Given the description of an element on the screen output the (x, y) to click on. 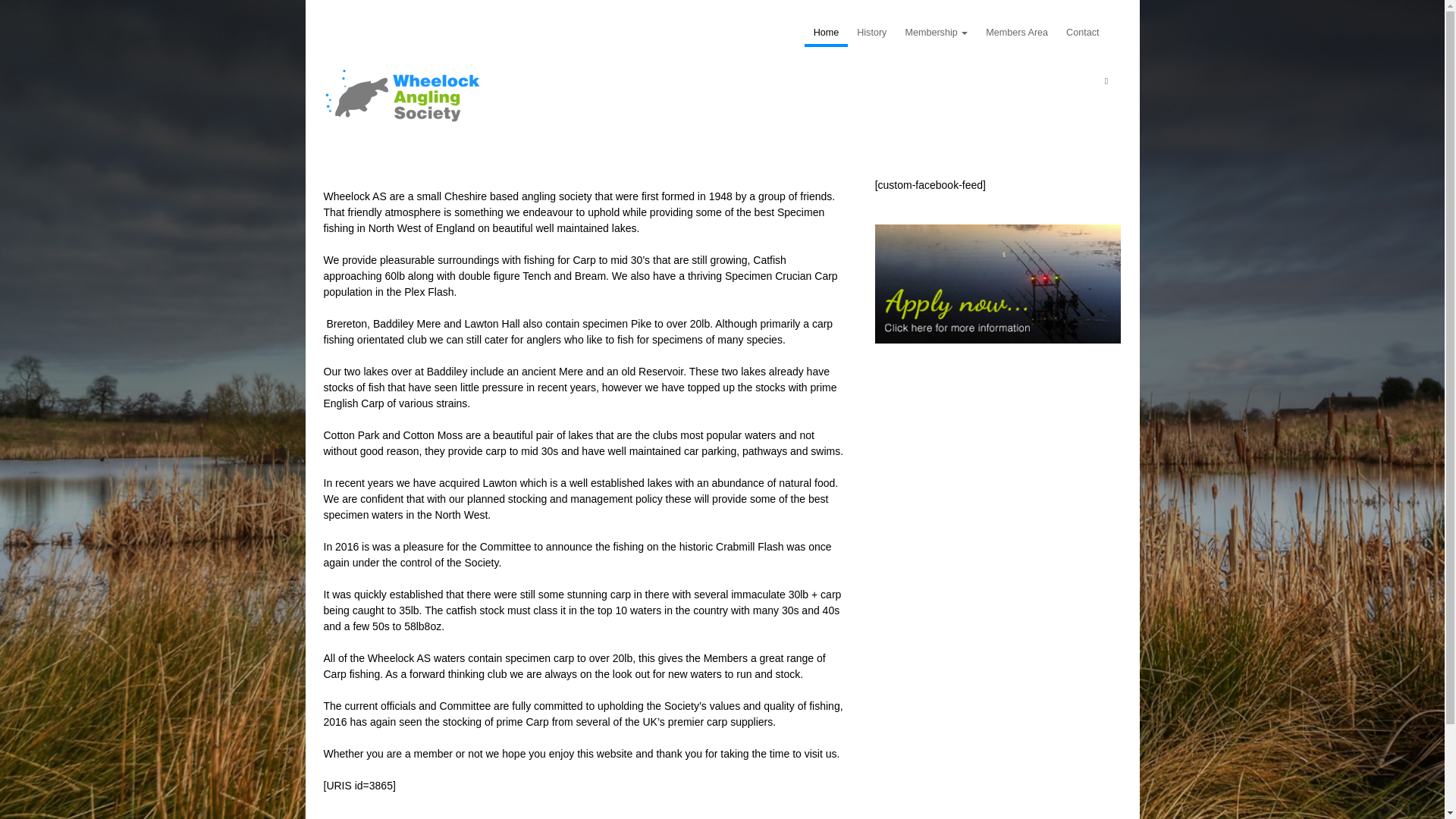
Wheelock Angling Society (407, 95)
History (871, 32)
Home (826, 32)
Members Area (1016, 32)
Contact (1082, 32)
Membership (935, 32)
